Given the description of an element on the screen output the (x, y) to click on. 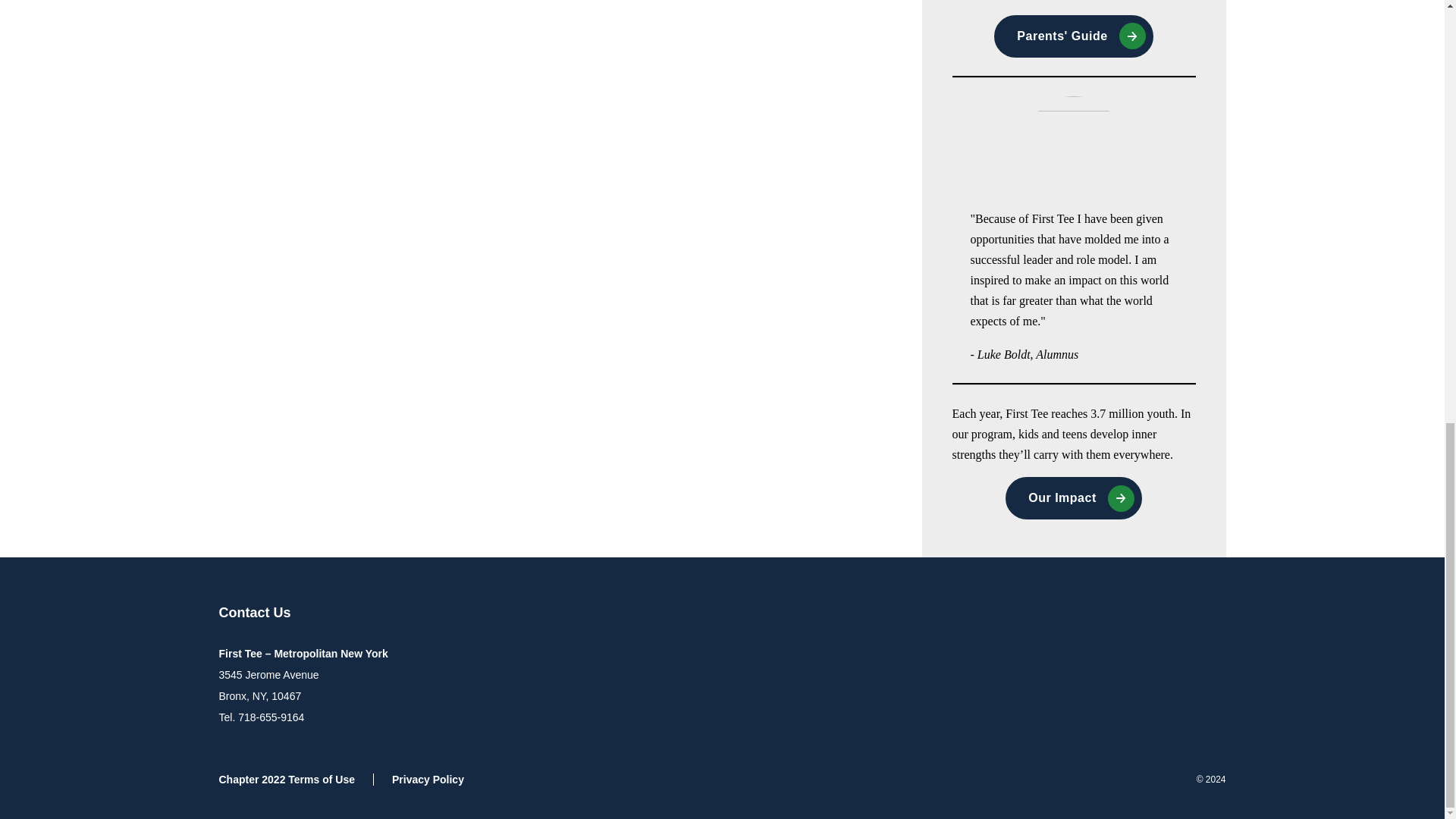
Our Impact (1073, 497)
Open instagram in a new window (1111, 613)
Open youtube in a new window (1202, 613)
Open twitter in a new window (1142, 613)
Chapter 2022 Terms of Use (295, 779)
Parents' Guide (1073, 36)
Privacy Policy (427, 779)
Open facebook in a new window (1171, 613)
